Given the description of an element on the screen output the (x, y) to click on. 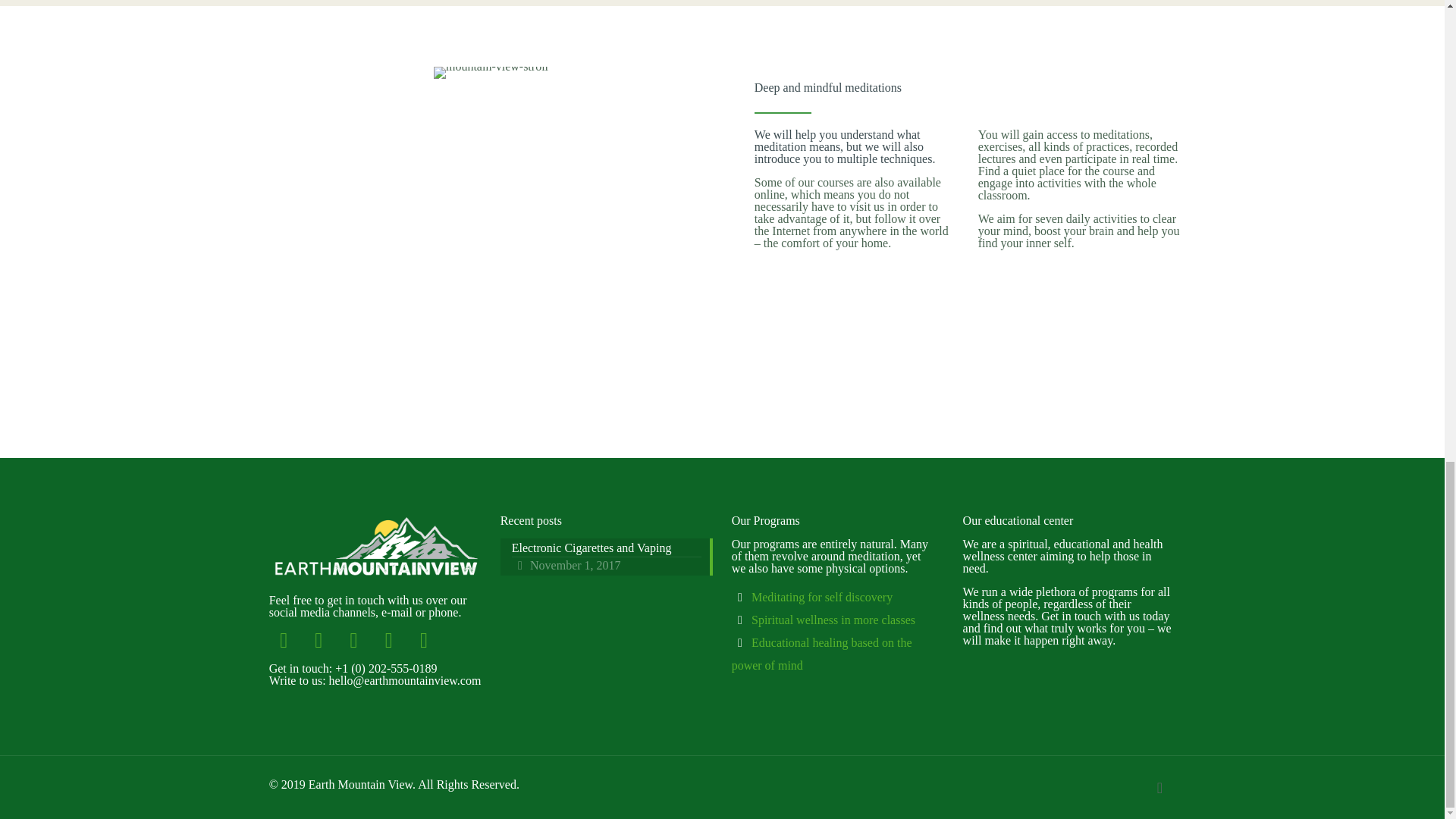
mountain-view-stroll (490, 72)
earth-mountain-view-logo (375, 547)
Meditating for self discovery (606, 556)
Spiritual wellness in more classes (821, 596)
Educational healing based on the power of mind (833, 619)
